Given the description of an element on the screen output the (x, y) to click on. 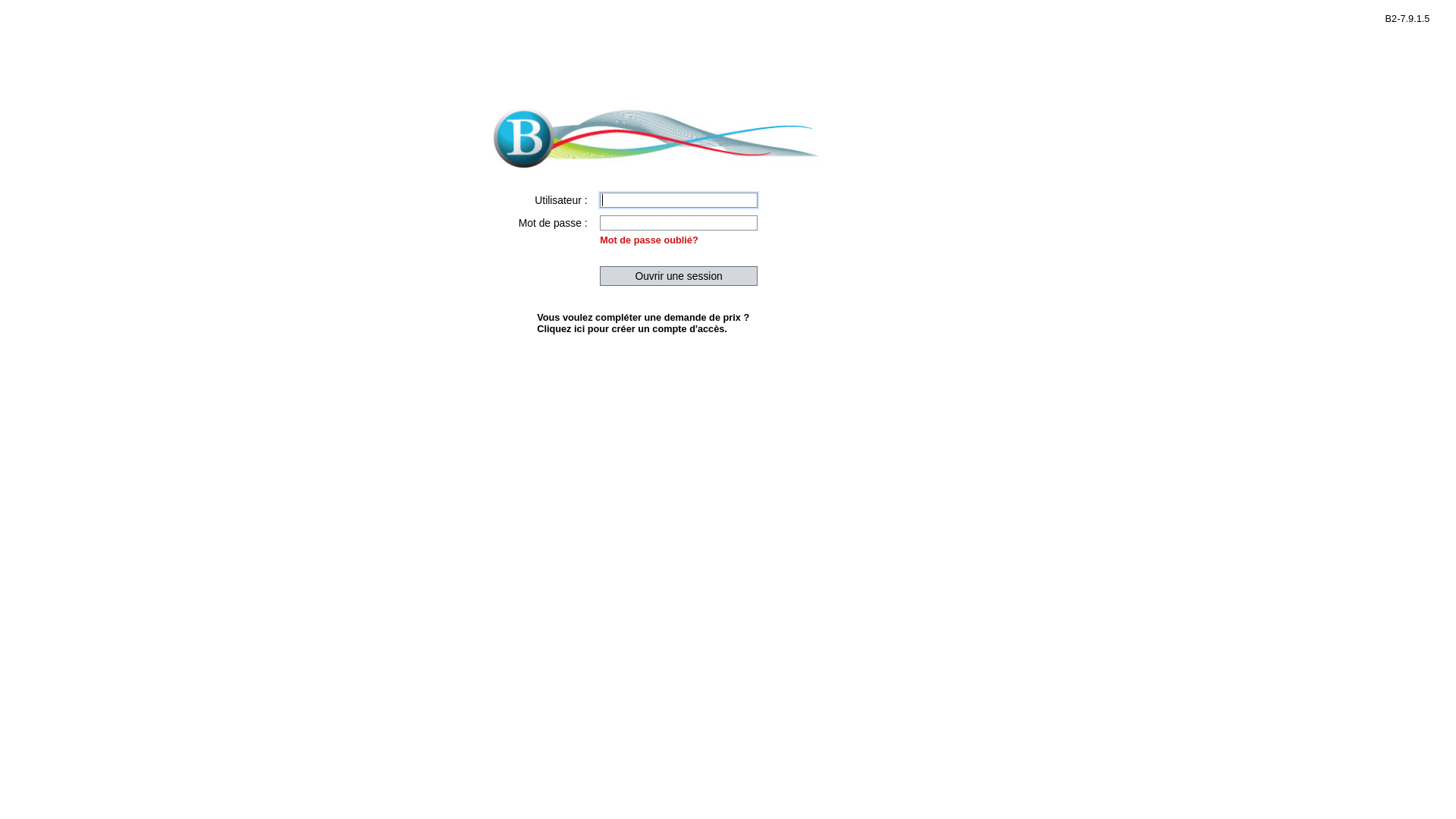
Ouvrir une session Element type: text (678, 275)
